Given the description of an element on the screen output the (x, y) to click on. 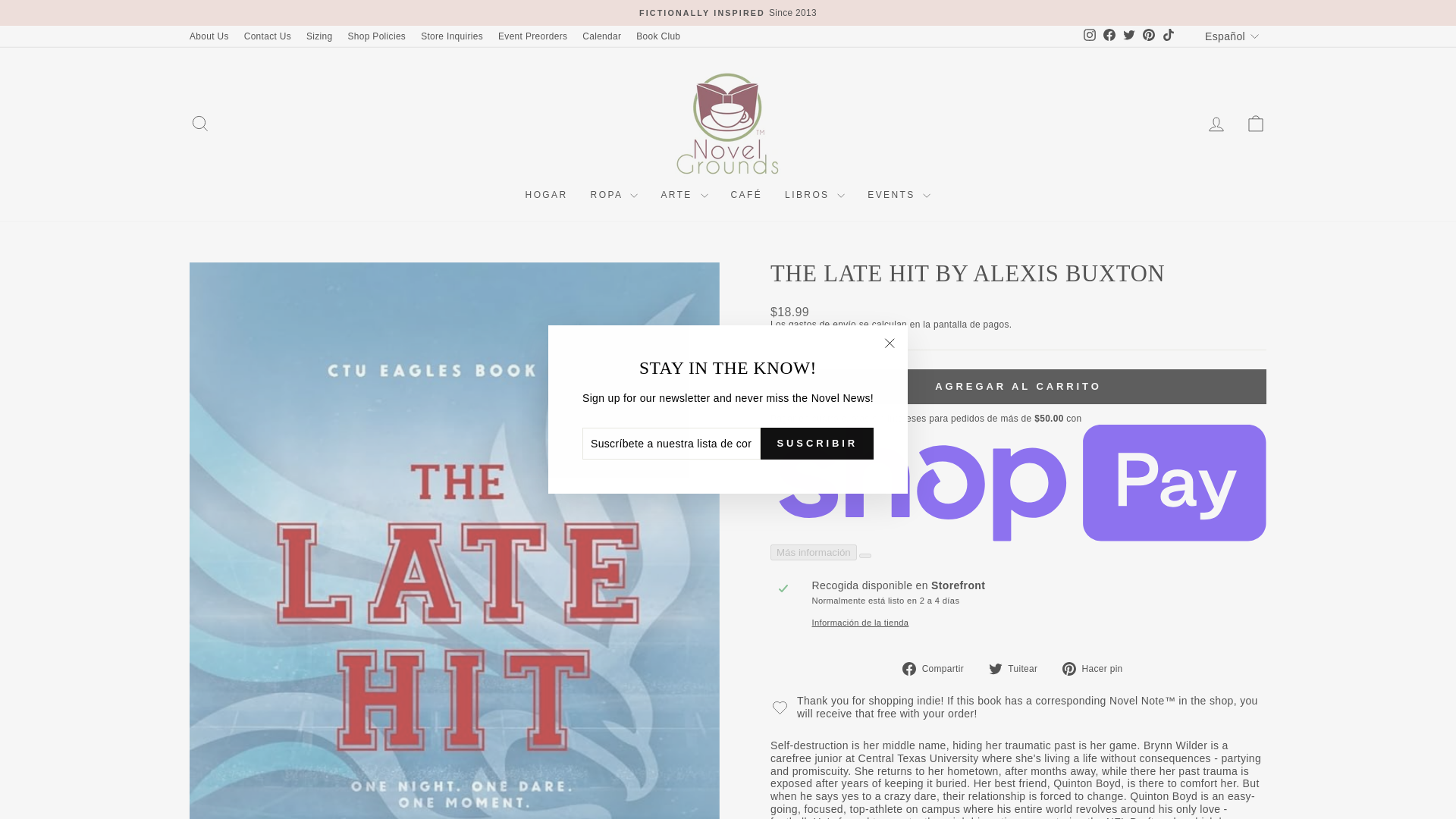
Compartir en Facebook (938, 668)
ACCOUNT (1216, 124)
ICON-BAG-MINIMAL (1255, 123)
icon-X (889, 342)
twitter (1128, 34)
instagram (1089, 34)
Novel Grounds en TikTok (1167, 35)
Novel Grounds en Instagram (1089, 35)
Pinear en Pinterest (1098, 668)
Novel Grounds en Twitter (1128, 35)
Novel Grounds en Facebook (1109, 35)
Novel Grounds en Pinterest (1148, 35)
twitter (995, 668)
Tuitear en Twitter (1018, 668)
ICON-SEARCH (200, 123)
